Given the description of an element on the screen output the (x, y) to click on. 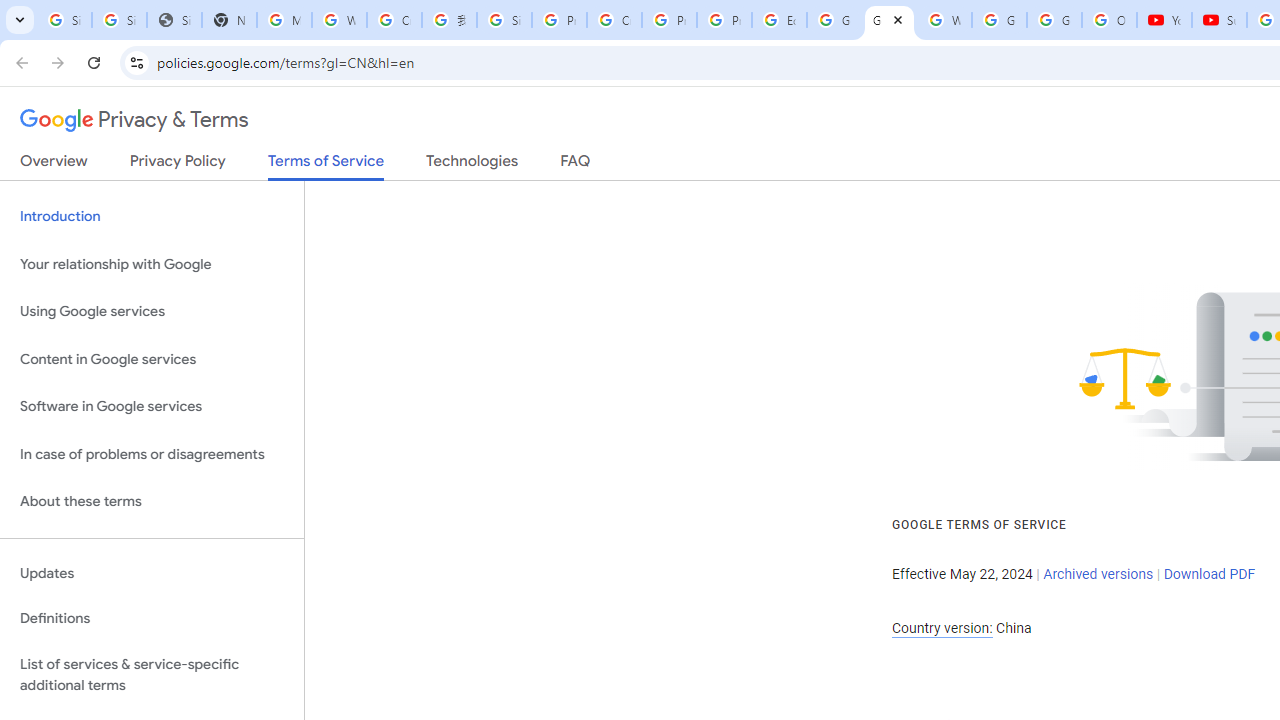
Sign in - Google Accounts (64, 20)
Your relationship with Google (152, 263)
YouTube (1163, 20)
Create your Google Account (394, 20)
Using Google services (152, 312)
Introduction (152, 216)
Privacy & Terms (134, 120)
Subscriptions - YouTube (1218, 20)
